Given the description of an element on the screen output the (x, y) to click on. 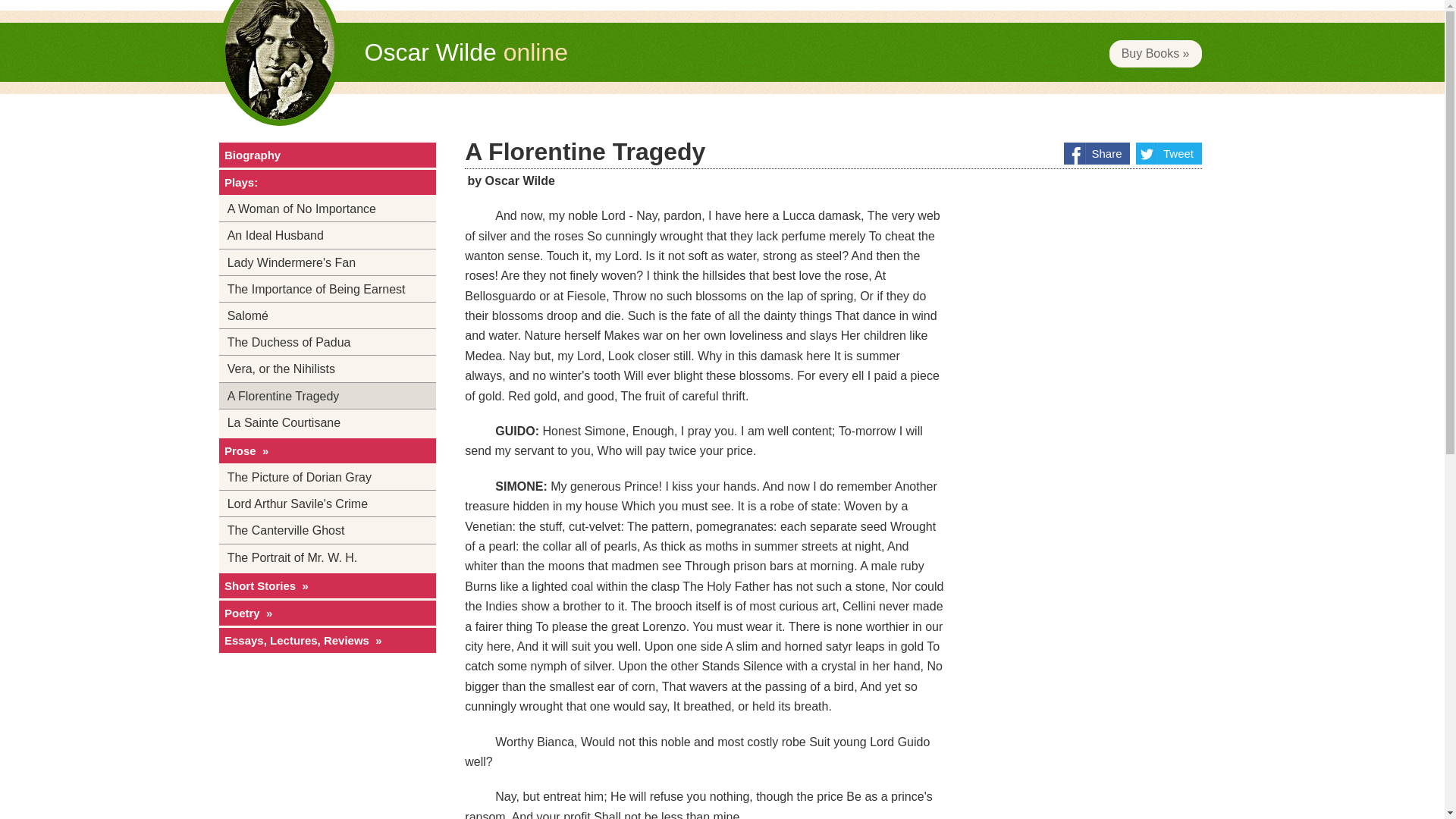
Tweet (1168, 153)
Share on Twitter (1168, 153)
Biography (326, 154)
Lord Arthur Savile's Crime (326, 503)
Lady Windermere's Fan (326, 262)
Share (1096, 153)
A Florentine Tragedy (326, 395)
La Sainte Courtisane (326, 422)
The Importance of Being Earnest (326, 289)
Oscar Wilde online (465, 52)
